Given the description of an element on the screen output the (x, y) to click on. 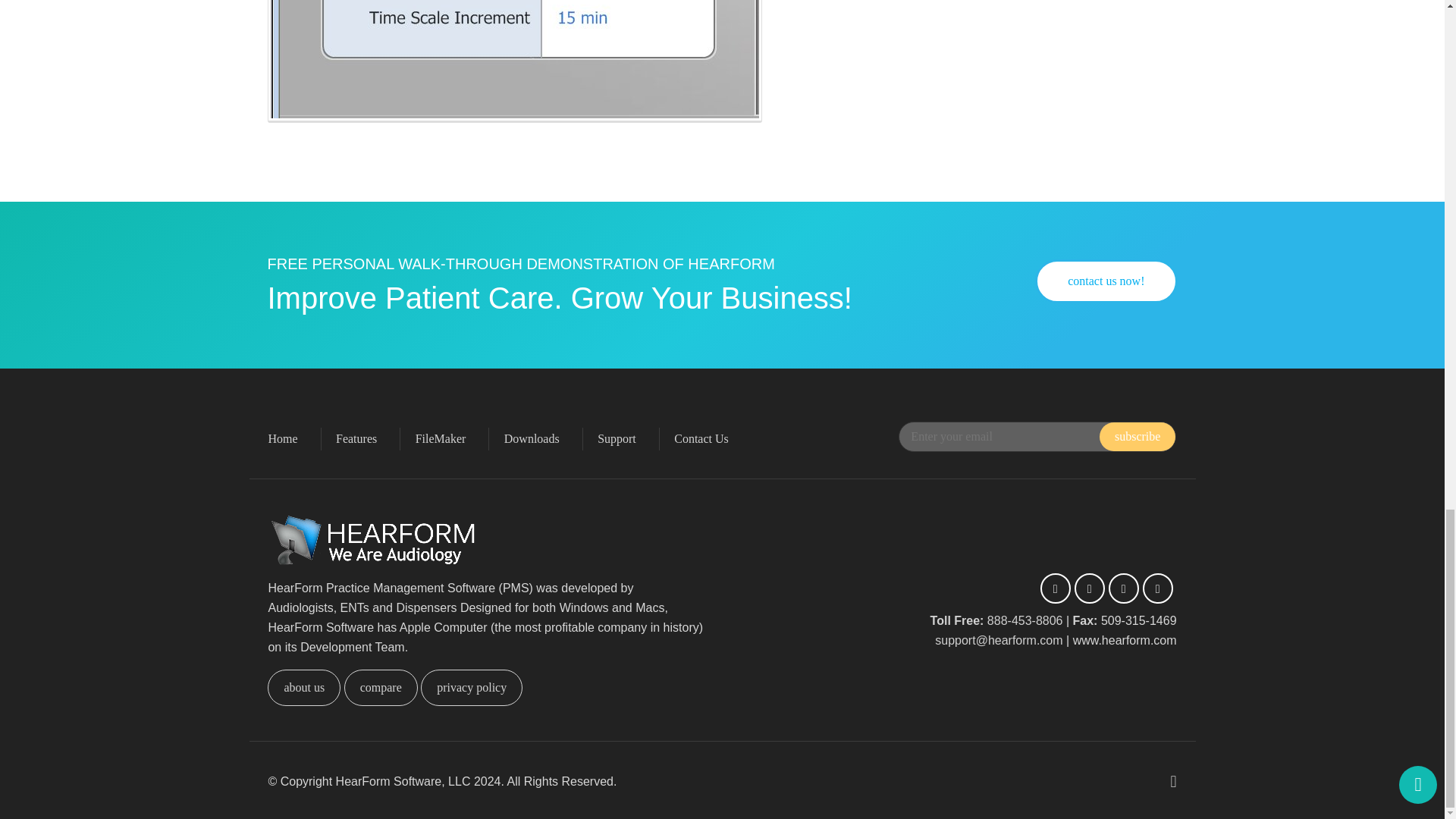
Find us on Linkedin (1157, 588)
Features (367, 438)
Find us on YouTube (1123, 588)
Subscribe (1136, 436)
Home (293, 438)
contact us now! (1105, 281)
Find us on Facebook (1055, 588)
Find us on Twitter (1089, 588)
